Given the description of an element on the screen output the (x, y) to click on. 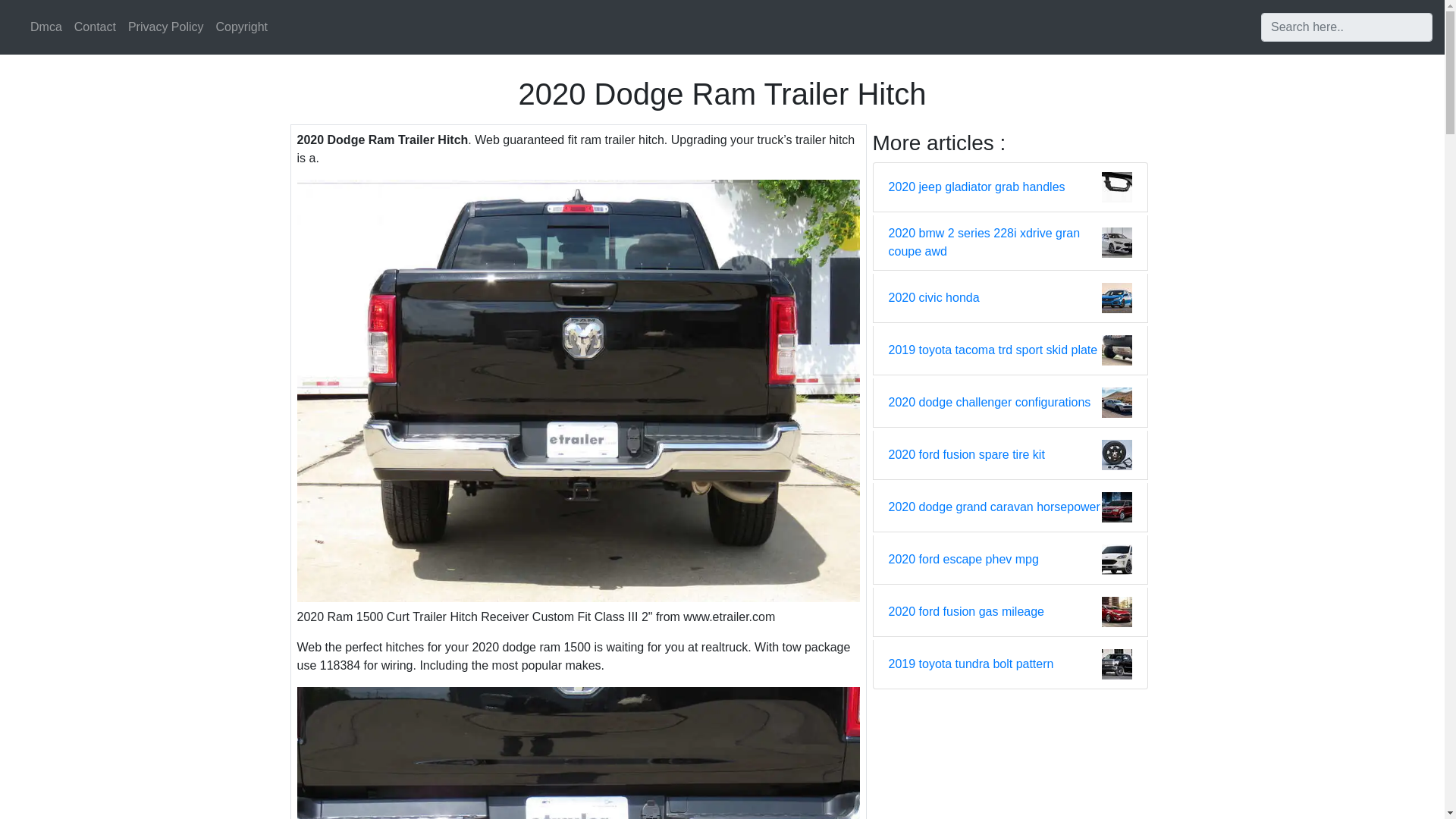
2020 ford fusion gas mileage (965, 611)
2019 toyota tundra bolt pattern (971, 664)
Privacy Policy (165, 27)
2020 dodge grand caravan horsepower (994, 506)
2020 ford escape phev mpg (963, 559)
Contact (95, 27)
2020 civic honda (933, 298)
Dmca (46, 27)
2020 ford fusion spare tire kit (966, 454)
2020 jeep gladiator grab handles (976, 187)
